Given the description of an element on the screen output the (x, y) to click on. 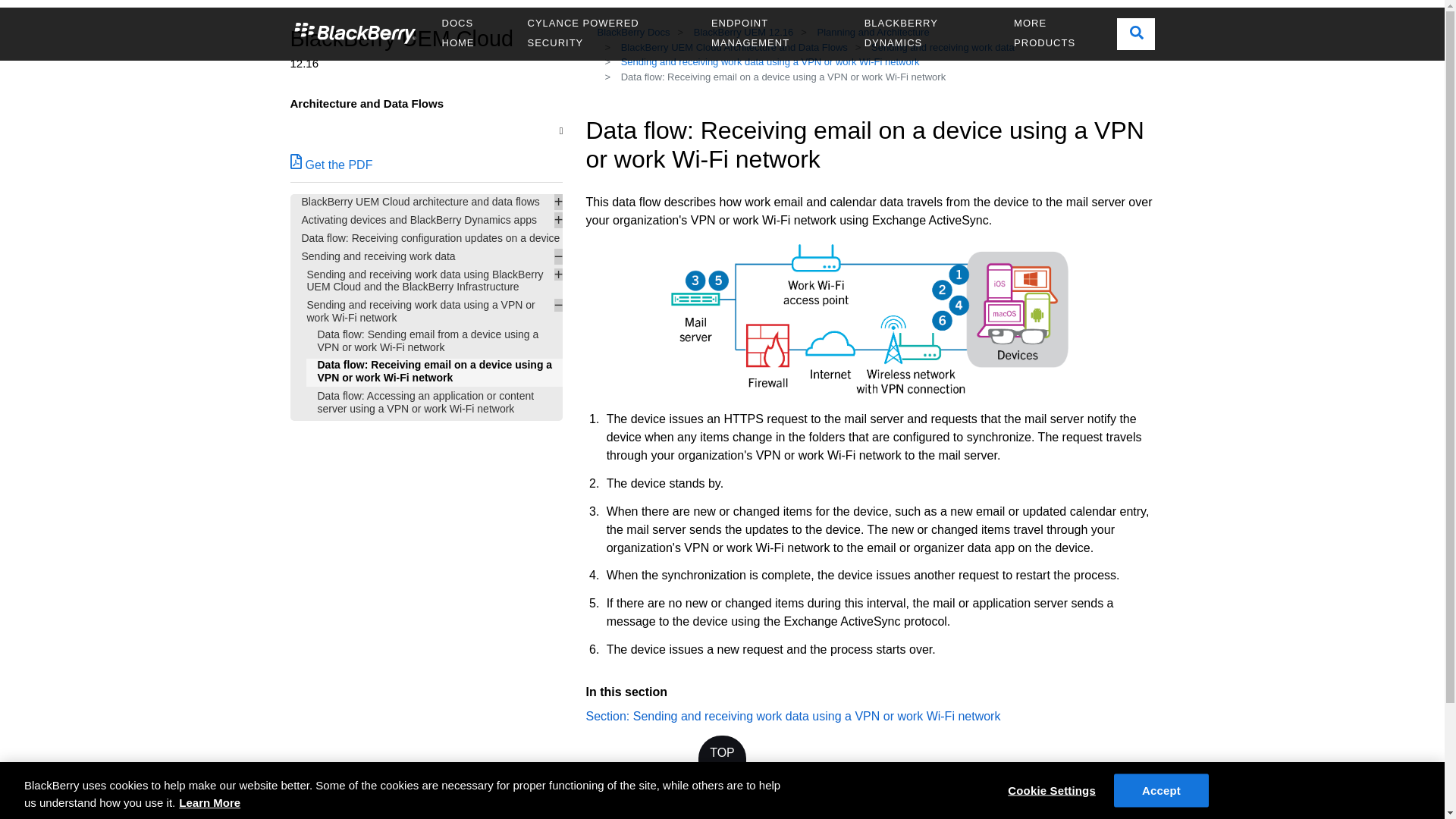
CYLANCE POWERED SECURITY (608, 33)
MORE PRODUCTS (1059, 33)
BLACKBERRY DYNAMICS (928, 33)
ENDPOINT MANAGEMENT (776, 33)
DOCS HOME (473, 33)
